Given the description of an element on the screen output the (x, y) to click on. 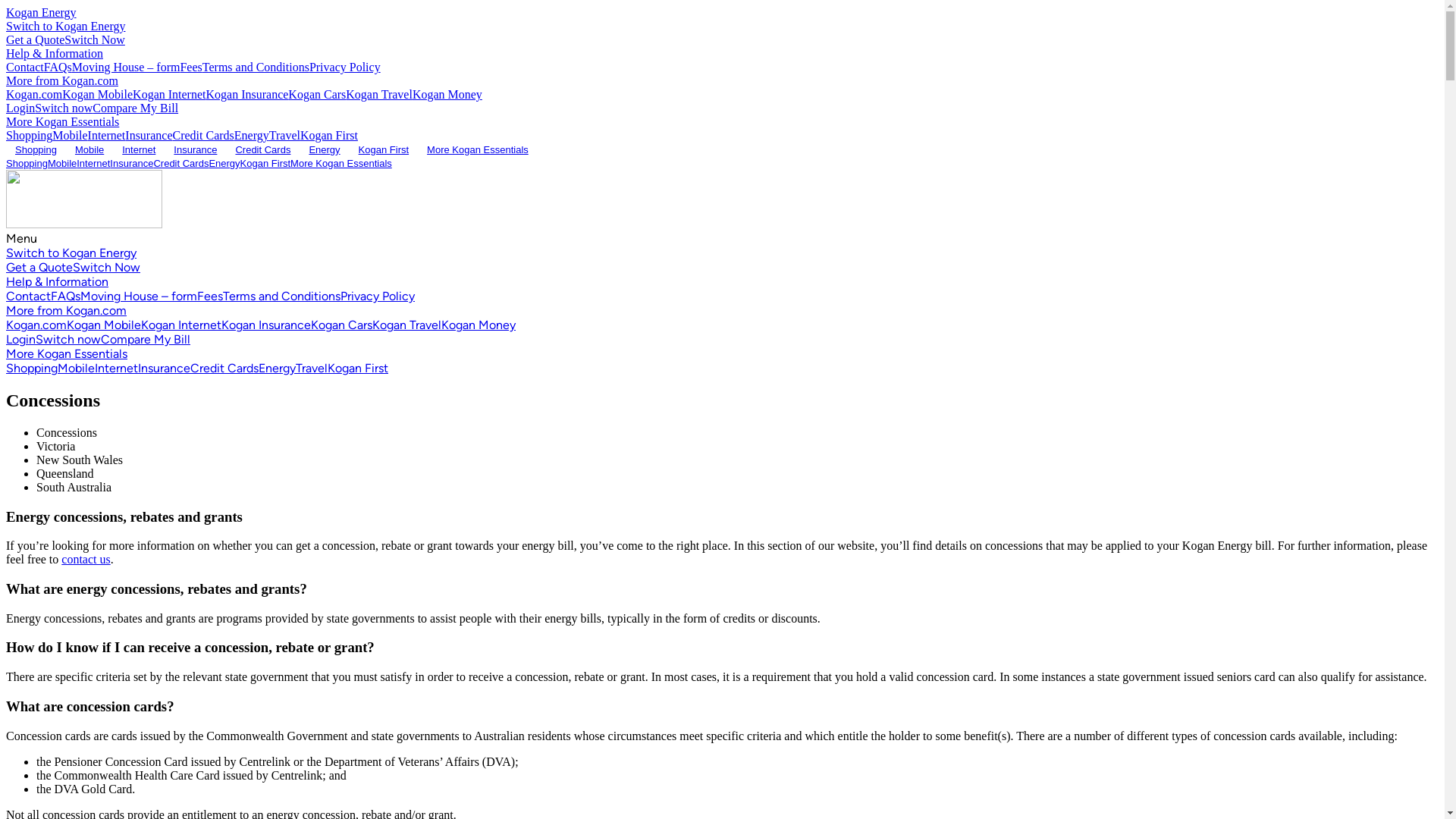
More from Kogan.com Element type: text (66, 310)
Kogan.com Element type: text (34, 93)
Credit Cards Element type: text (224, 367)
More Kogan Essentials Element type: text (341, 163)
Travel Element type: text (311, 367)
Privacy Policy Element type: text (344, 66)
Internet Element type: text (138, 149)
Shopping Element type: text (29, 134)
Internet Element type: text (106, 134)
Switch Now Element type: text (106, 267)
Contact Element type: text (24, 66)
Kogan Energy Element type: text (41, 12)
More Kogan Essentials Element type: text (62, 121)
Kogan Internet Element type: text (168, 93)
Kogan First Element type: text (265, 163)
Help & Information Element type: text (54, 53)
Kogan First Element type: text (328, 134)
Mobile Element type: text (88, 149)
Fees Element type: text (209, 295)
Mobile Element type: text (75, 367)
Kogan First Element type: text (357, 367)
Switch to Kogan Energy Element type: text (71, 252)
Insurance Element type: text (194, 149)
Mobile Element type: text (69, 134)
Shopping Element type: text (31, 367)
More Kogan Essentials Element type: text (66, 353)
Kogan Travel Element type: text (378, 93)
Energy Element type: text (251, 134)
Switch now Element type: text (67, 339)
Login Element type: text (20, 107)
Compare My Bill Element type: text (145, 339)
Shopping Element type: text (26, 163)
More Kogan Essentials Element type: text (477, 149)
Mobile Element type: text (61, 163)
Get a Quote Element type: text (35, 39)
Kogan Cars Element type: text (316, 93)
Insurance Element type: text (131, 163)
Login Element type: text (20, 339)
Travel Element type: text (284, 134)
Energy Element type: text (276, 367)
Internet Element type: text (92, 163)
Kogan Mobile Element type: text (103, 324)
Terms and Conditions Element type: text (255, 66)
Help & Information Element type: text (57, 281)
Compare My Bill Element type: text (135, 107)
Shopping Element type: text (35, 149)
Kogan Money Element type: text (478, 324)
Fees Element type: text (190, 66)
Credit Cards Element type: text (262, 149)
Kogan Insurance Element type: text (265, 324)
Energy Element type: text (323, 149)
Terms and Conditions Element type: text (281, 295)
Internet Element type: text (116, 367)
Credit Cards Element type: text (180, 163)
Kogan Insurance Element type: text (246, 93)
Energy Element type: text (223, 163)
Kogan First Element type: text (383, 149)
Kogan Money Element type: text (447, 93)
Get a Quote Element type: text (39, 267)
FAQs Element type: text (57, 66)
Kogan.com Element type: text (36, 324)
Kogan Travel Element type: text (406, 324)
Credit Cards Element type: text (203, 134)
Insurance Element type: text (164, 367)
Insurance Element type: text (148, 134)
Kogan Cars Element type: text (341, 324)
Switch now Element type: text (63, 107)
Kogan Mobile Element type: text (97, 93)
contact us Element type: text (85, 558)
Kogan Internet Element type: text (181, 324)
More from Kogan.com Element type: text (62, 80)
FAQs Element type: text (65, 295)
Privacy Policy Element type: text (377, 295)
Contact Element type: text (28, 295)
Switch to Kogan Energy Element type: text (65, 25)
Switch Now Element type: text (94, 39)
